Given the description of an element on the screen output the (x, y) to click on. 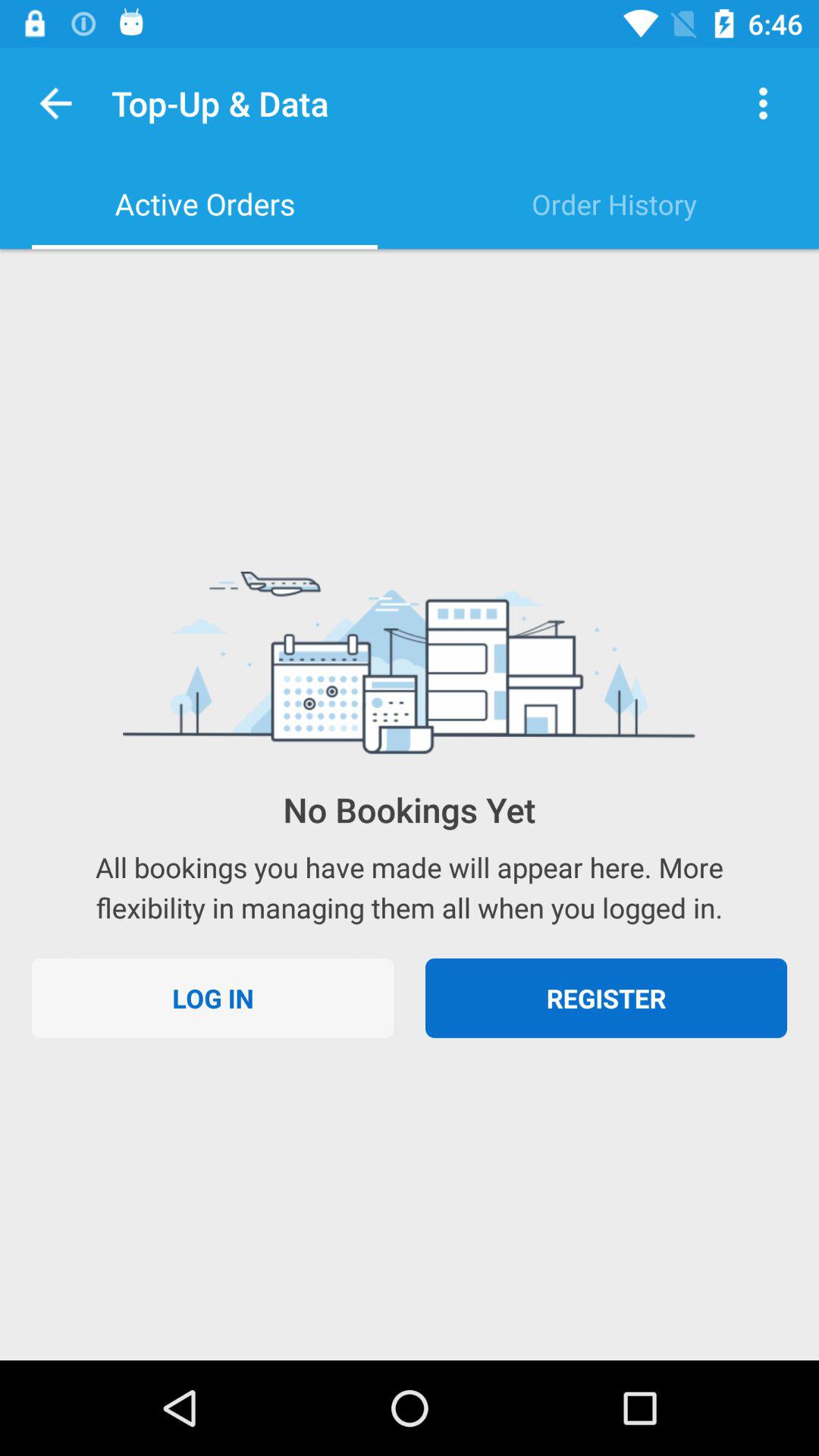
switch to more options (763, 103)
